Given the description of an element on the screen output the (x, y) to click on. 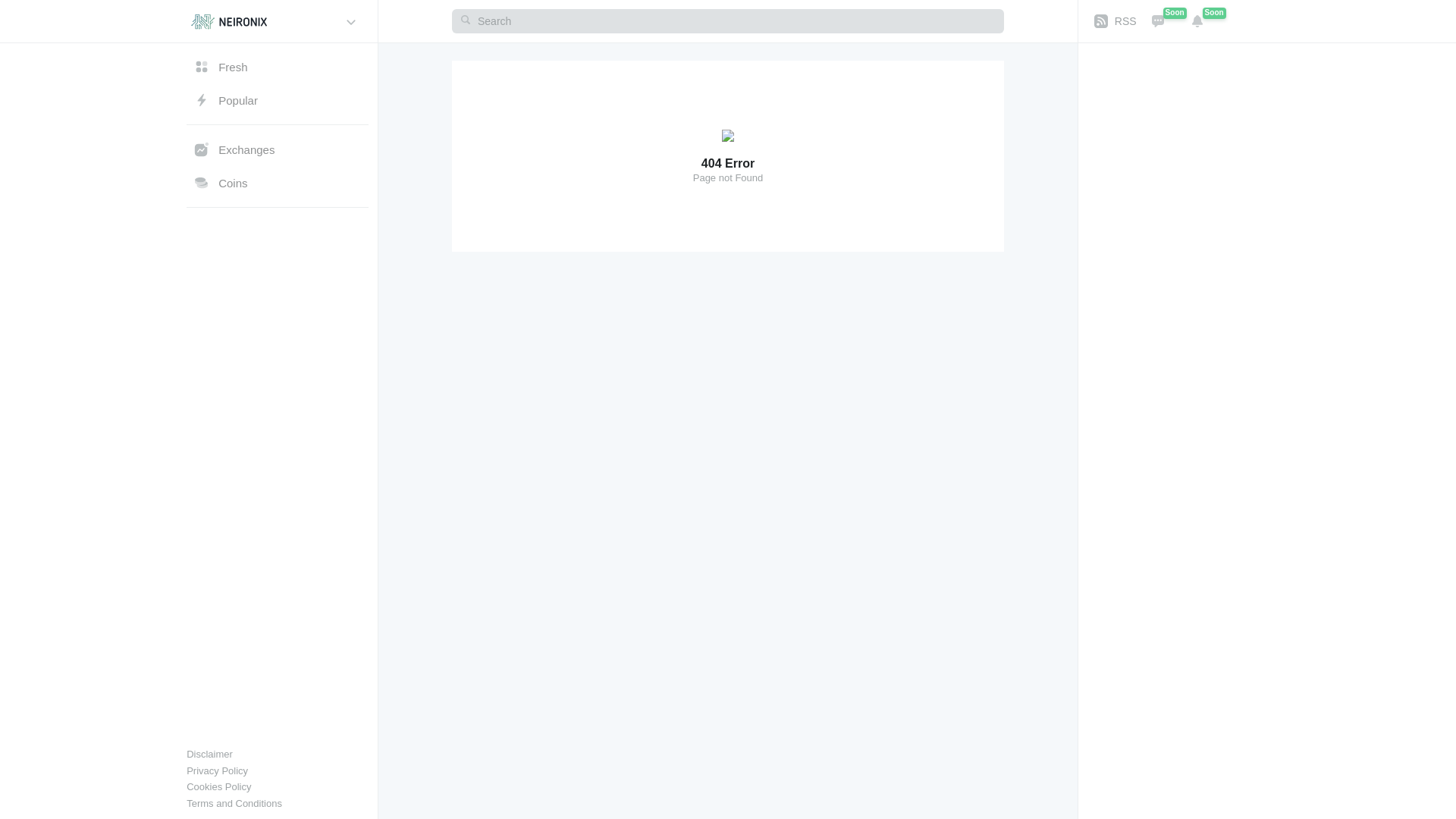
Fresh (277, 66)
Cookies Policy (218, 788)
Privacy Policy (216, 771)
Popular (277, 100)
Terms and Conditions (234, 804)
Exchanges (277, 149)
Coins (277, 182)
Disclaimer (209, 755)
